Given the description of an element on the screen output the (x, y) to click on. 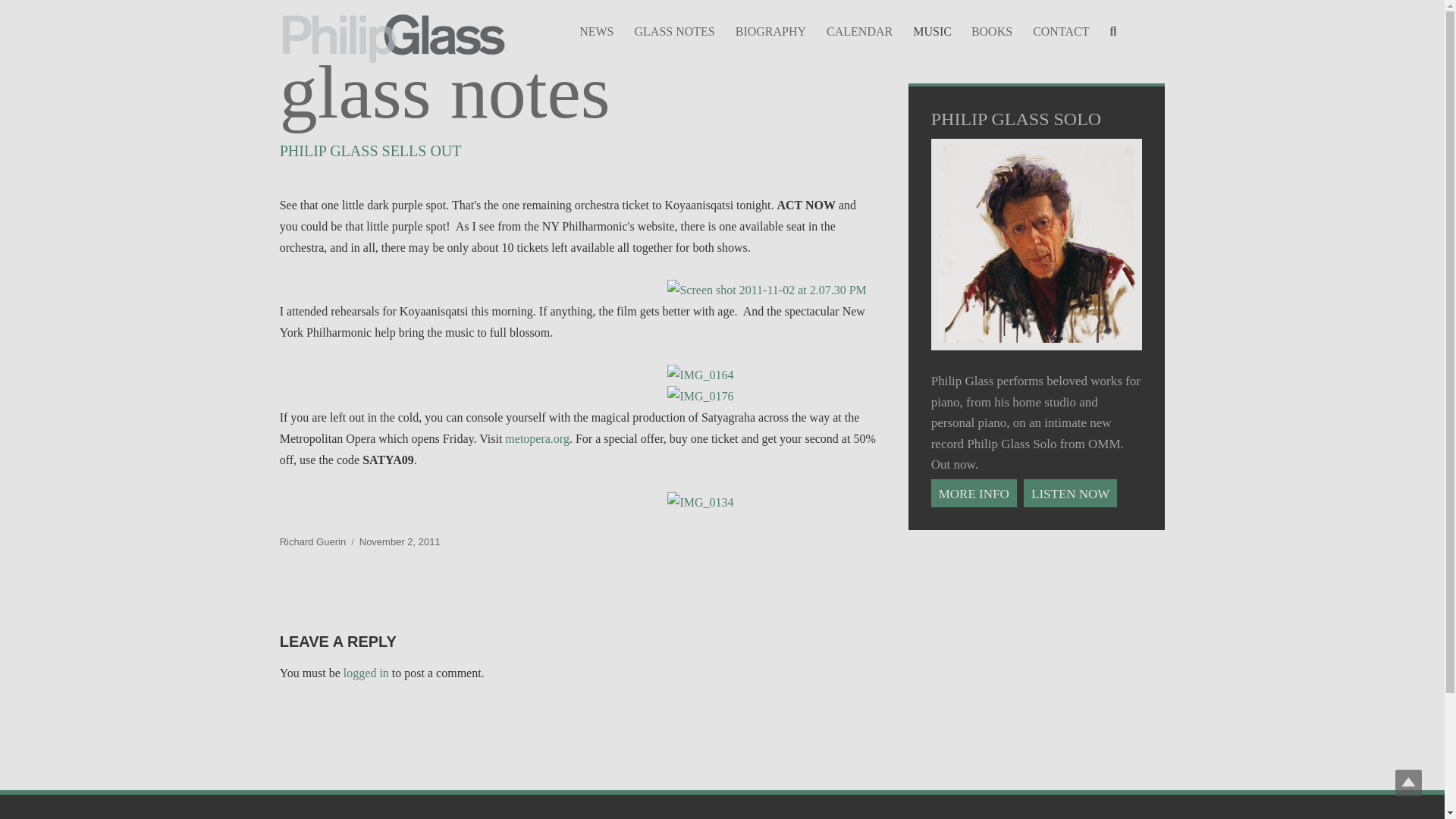
MORE INFO (975, 493)
metopera.org (537, 438)
BIOGRAPHY (770, 30)
GLASS NOTES (674, 30)
MUSIC (931, 30)
LISTEN NOW (1072, 493)
NEWS (596, 30)
Screen shot 2011-11-02 at 2.07.30 PM (771, 290)
BOOKS (991, 30)
glass notes (577, 92)
CONTACT (1061, 30)
November 2, 2011 (400, 541)
CALENDAR (859, 30)
logged in (365, 672)
Richard Guerin (312, 541)
